Given the description of an element on the screen output the (x, y) to click on. 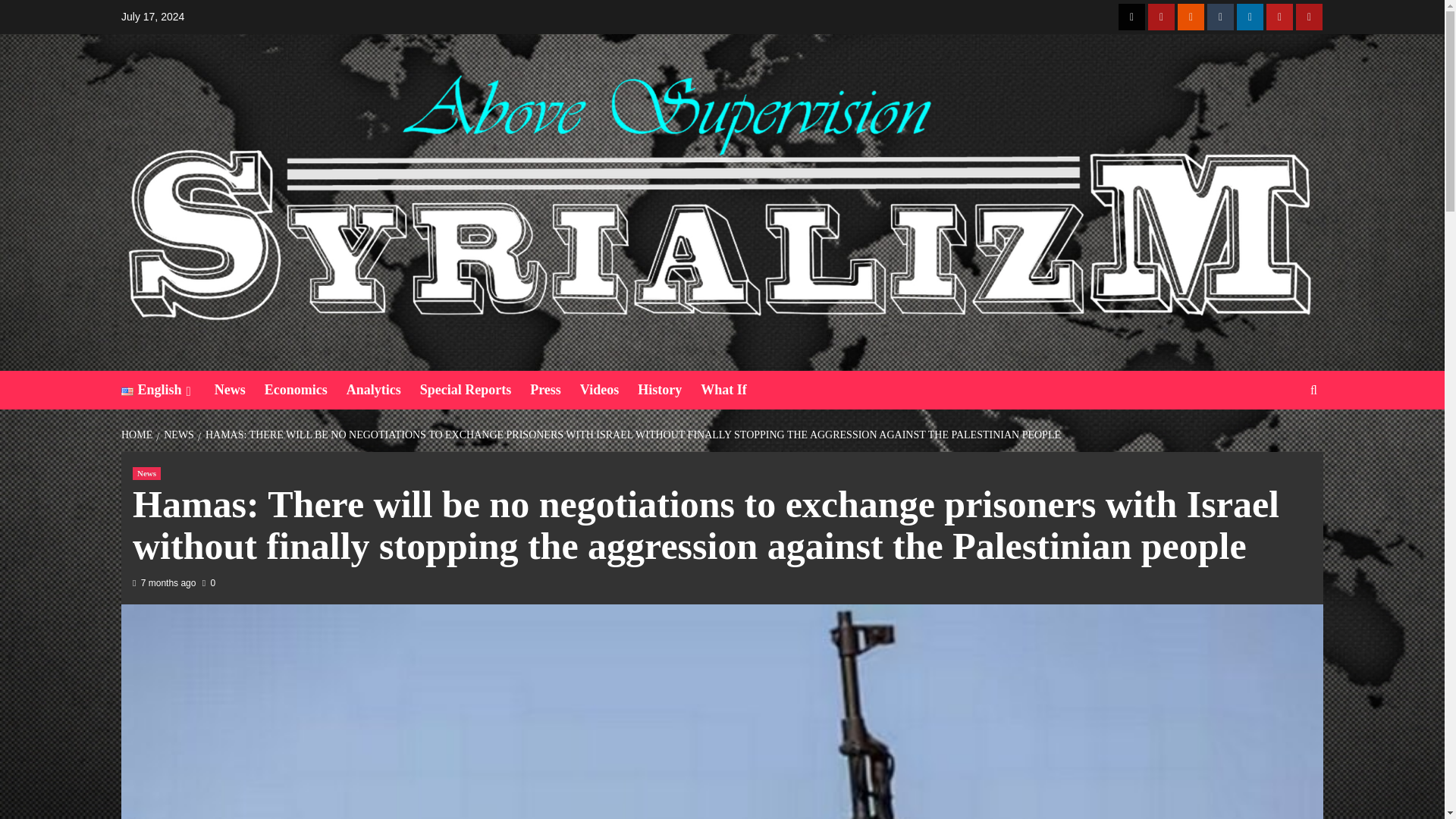
News (146, 472)
Telegram (1161, 17)
Press (554, 390)
Analytics (383, 390)
NEWS (176, 434)
Youtube (1279, 17)
English (167, 390)
Search (1278, 437)
Linkedin (1249, 17)
Reddit (1190, 17)
Search (1313, 389)
7 months ago (168, 583)
Tumplr (1220, 17)
HOME (137, 434)
Mastodon (1308, 17)
